Given the description of an element on the screen output the (x, y) to click on. 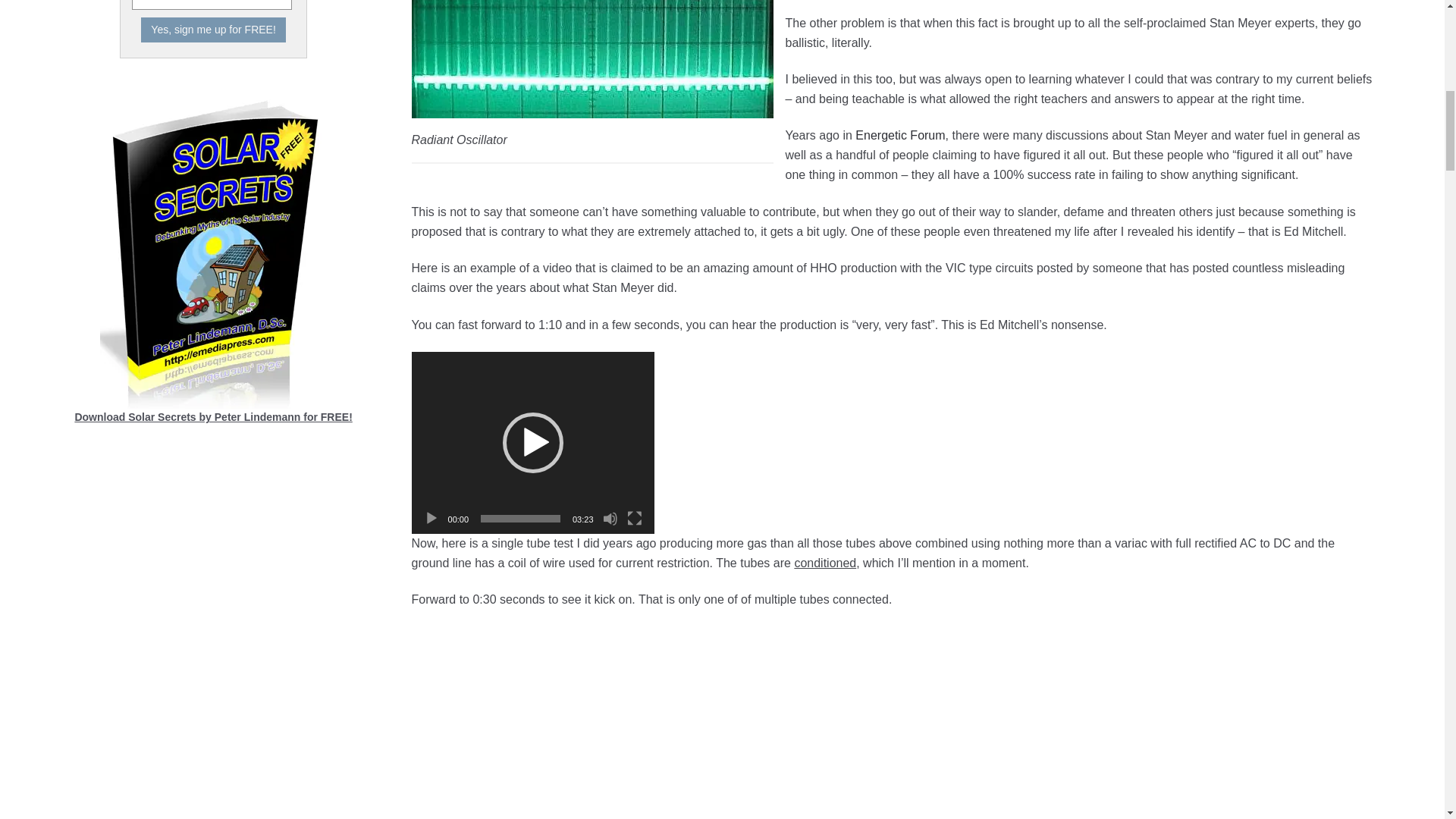
Fullscreen (634, 518)
Mute (609, 518)
Play (431, 518)
Yes, sign me up for FREE! (213, 29)
Energetic Forum (900, 134)
